Given the description of an element on the screen output the (x, y) to click on. 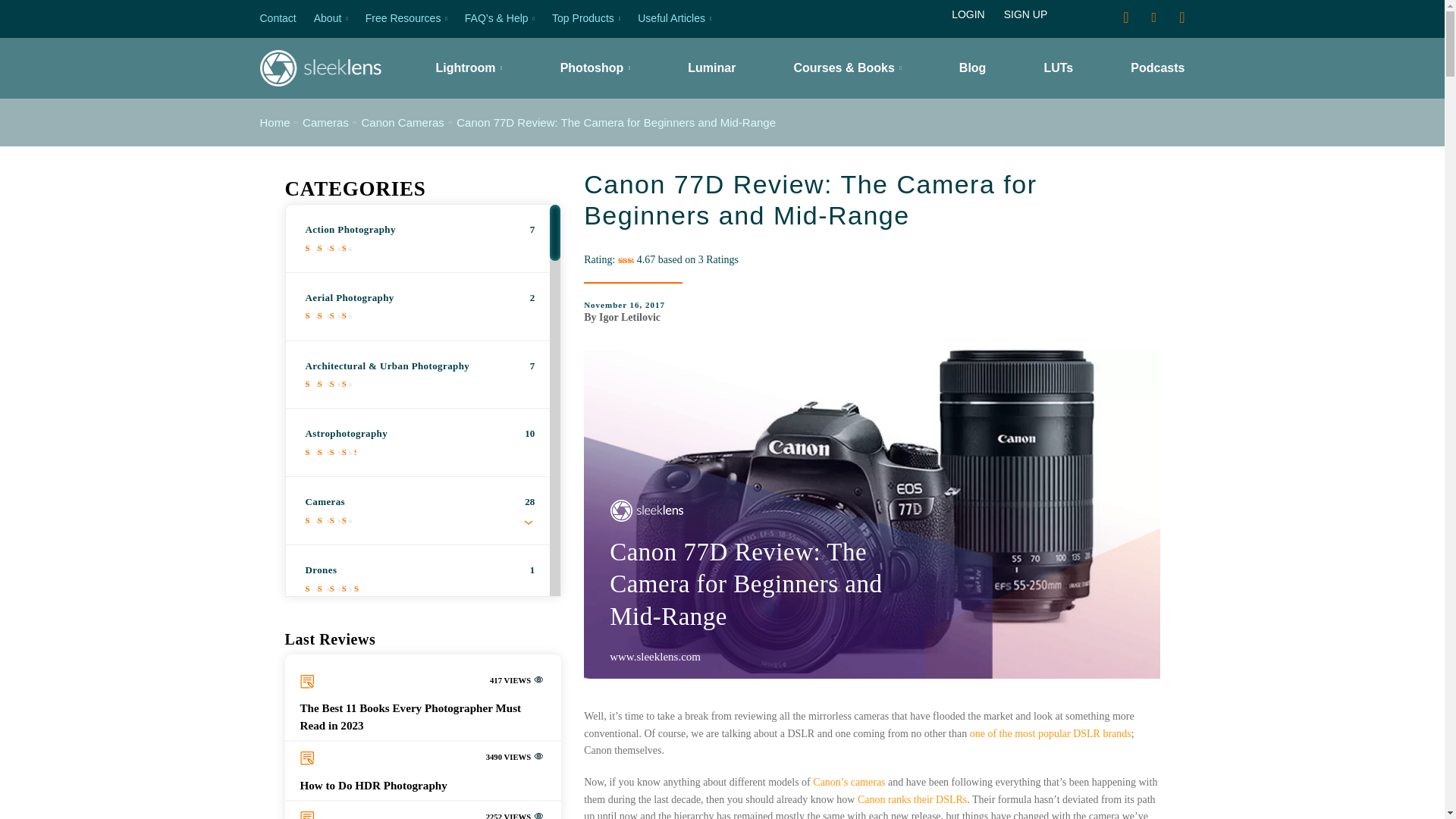
About (330, 18)
Contact (277, 18)
Useful Articles (674, 18)
Top Products (585, 18)
Home (274, 122)
Free Resources (405, 18)
